Given the description of an element on the screen output the (x, y) to click on. 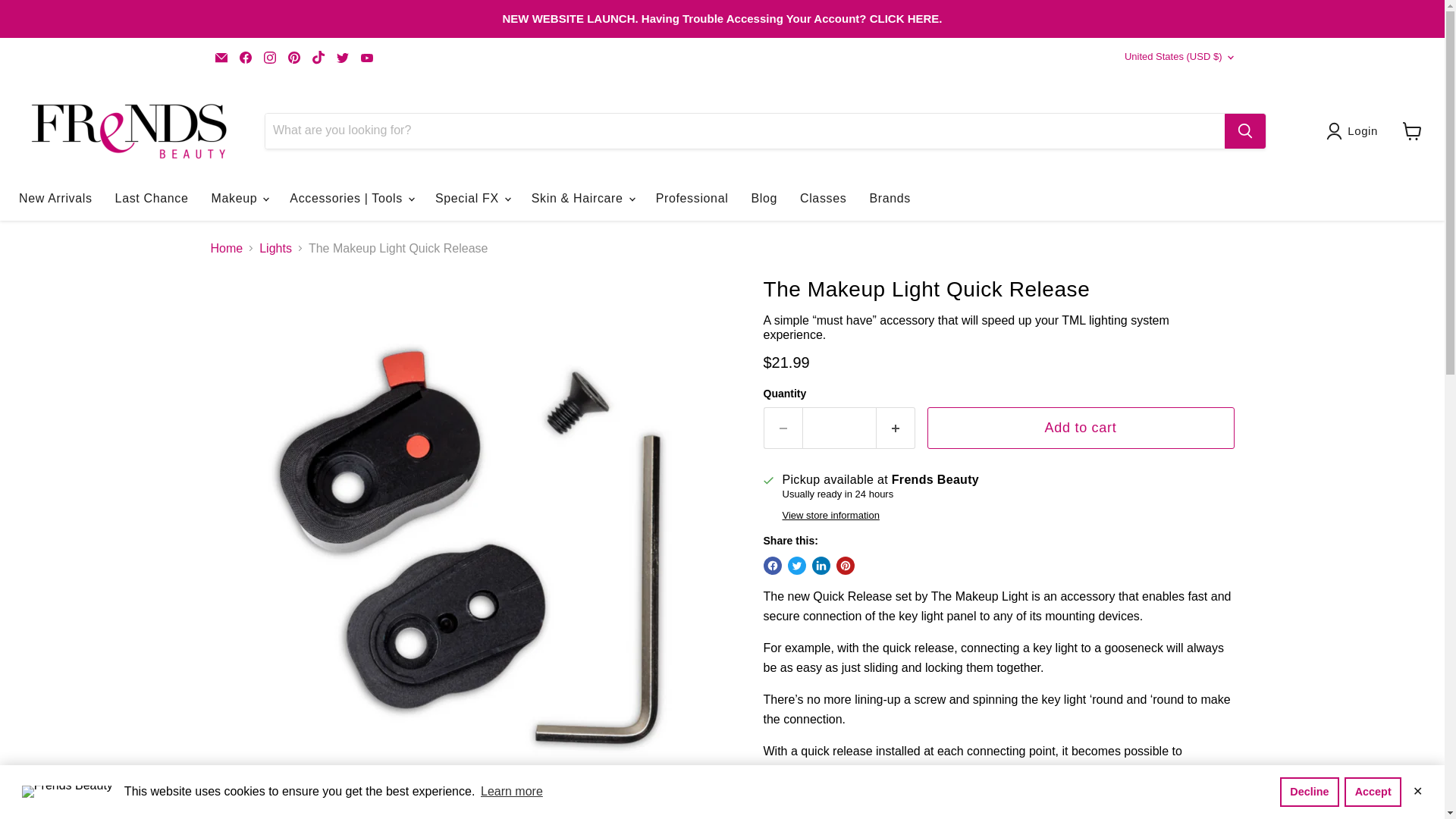
TikTok (318, 56)
Pinterest (293, 56)
Decline (1309, 791)
Find us on Facebook (245, 56)
Facebook (245, 56)
Instagram (270, 56)
Accept (1371, 791)
Email (221, 56)
YouTube (366, 56)
Find us on Pinterest (293, 56)
Find us on YouTube (366, 56)
Email Frends Beauty (221, 56)
Find us on TikTok (318, 56)
Twitter (342, 56)
Find us on Instagram (270, 56)
